Given the description of an element on the screen output the (x, y) to click on. 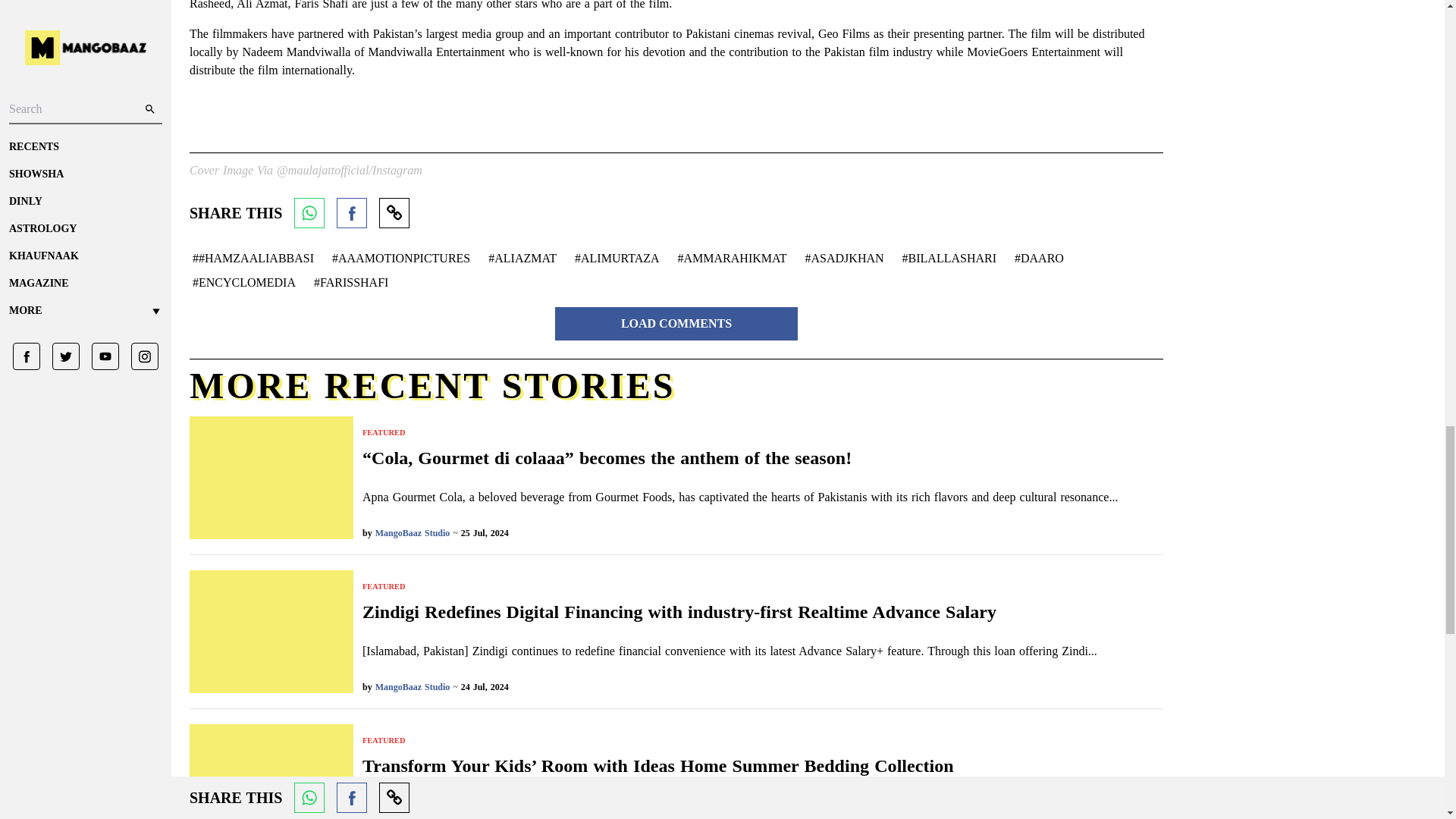
Whatsapp (309, 213)
Facebook (351, 213)
Copy URL (393, 213)
